Given the description of an element on the screen output the (x, y) to click on. 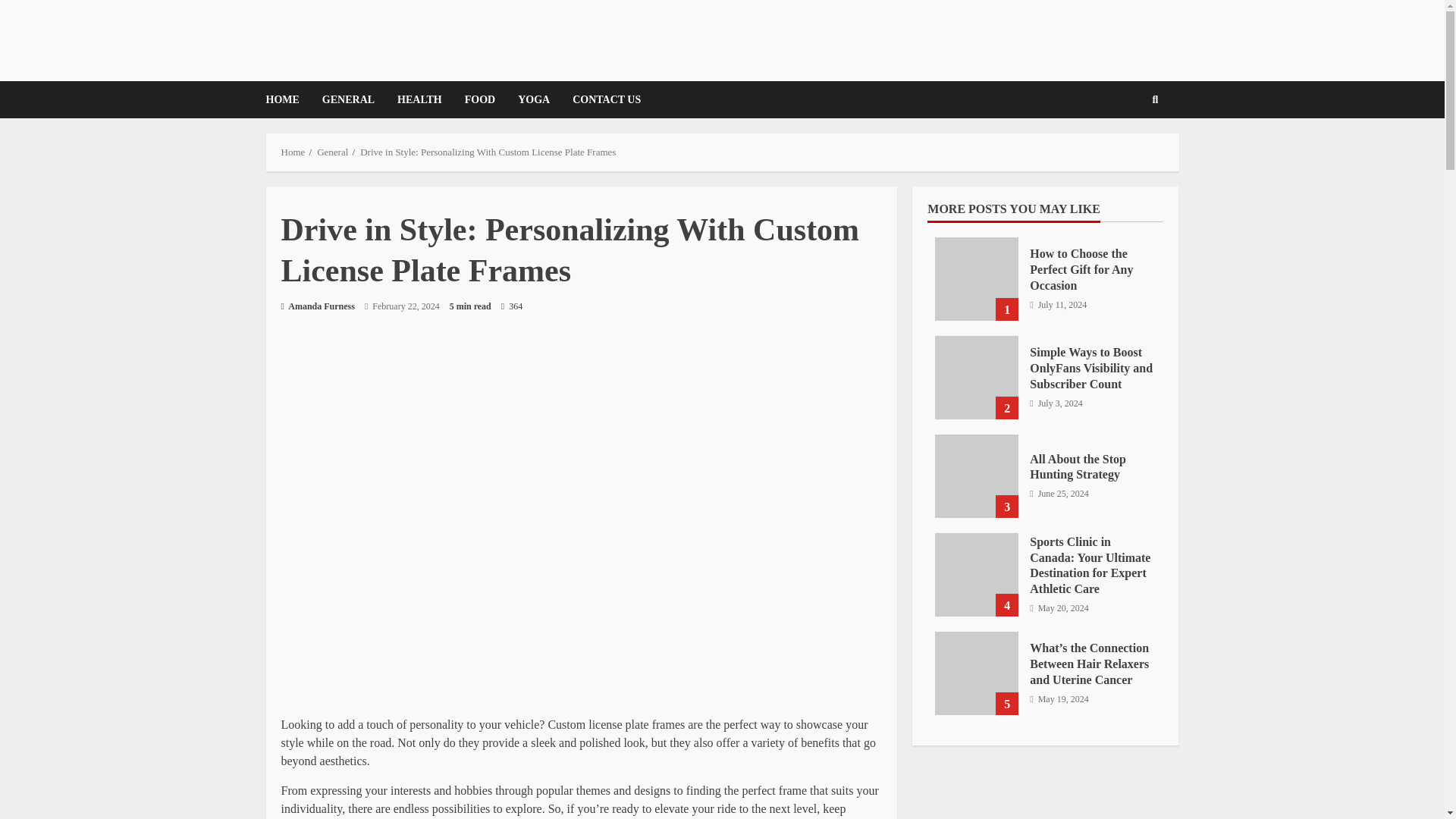
364 (511, 306)
HOME (287, 99)
HEALTH (418, 99)
Search (1131, 151)
Amanda Furness (317, 305)
FOOD (479, 99)
General (332, 152)
Home (292, 152)
YOGA (533, 99)
CONTACT US (600, 99)
GENERAL (348, 99)
